Given the description of an element on the screen output the (x, y) to click on. 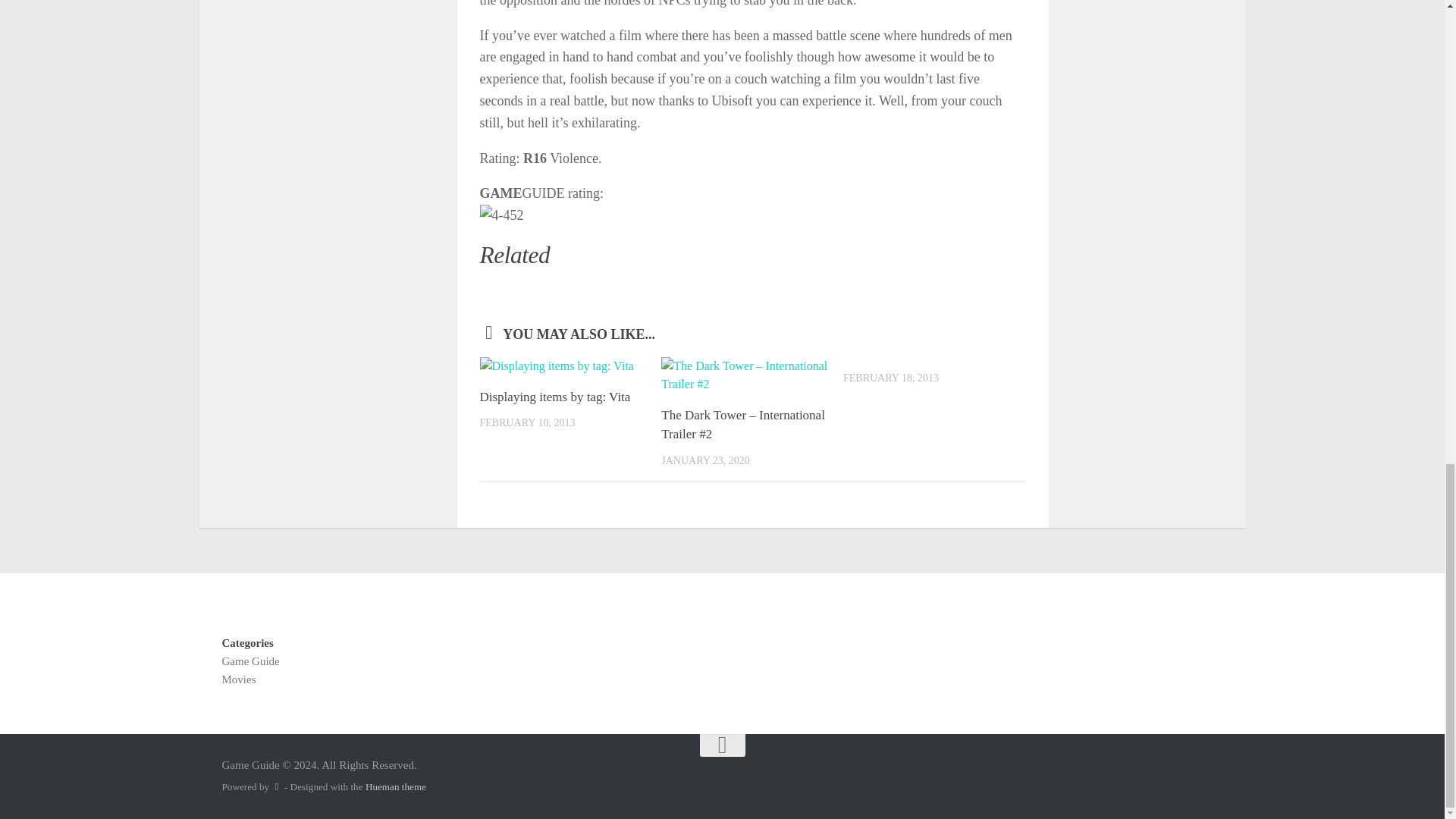
Displaying items by tag: Vita (554, 396)
Powered by WordPress (275, 786)
Hueman theme (395, 786)
Movies (238, 679)
Game Guide (250, 661)
Hueman theme (395, 786)
